Given the description of an element on the screen output the (x, y) to click on. 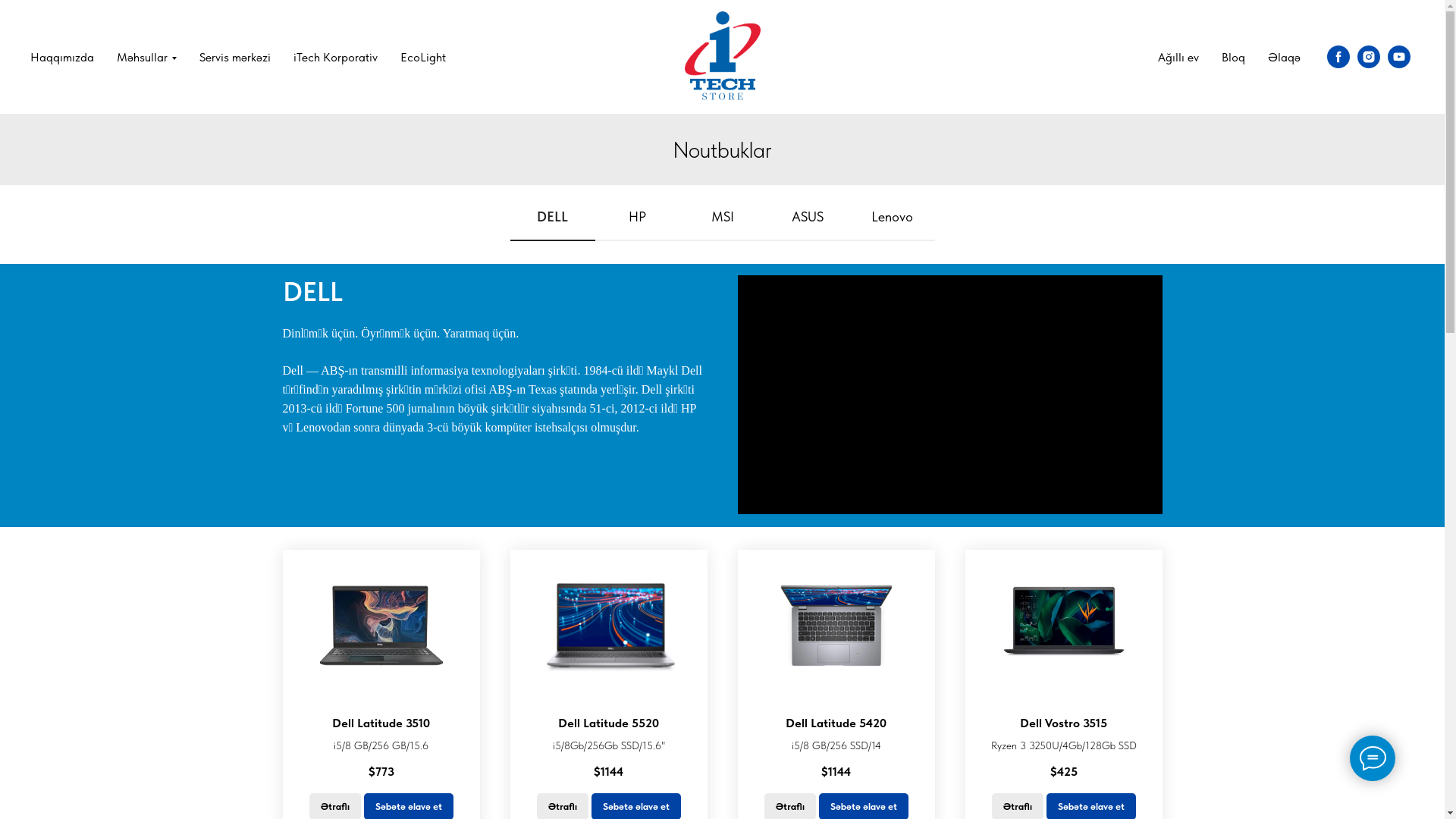
Dell Vostro 3515
Ryzen 3 3250U/4Gb/128Gb SSD
$
425 Element type: text (1062, 747)
EcoLight Element type: text (422, 57)
YouTube Element type: hover (1398, 56)
Dell Latitude 5420
i5/8 GB/256 SSD/14
$
1144 Element type: text (835, 747)
Dell Latitude 3510
i5/8 GB/256 GB/15.6
$
773 Element type: text (380, 747)
Dell Latitude 5520
i5/8Gb/256Gb SSD/15.6"
$
1144 Element type: text (607, 747)
MSI Element type: text (721, 223)
ASUS Element type: text (806, 223)
DELL Element type: text (551, 223)
Lenovo Element type: text (891, 223)
HP Element type: text (636, 223)
iTech Korporativ Element type: text (335, 57)
Instagram Element type: hover (1368, 56)
Bloq Element type: text (1233, 57)
Facebook Element type: hover (1338, 56)
